Given the description of an element on the screen output the (x, y) to click on. 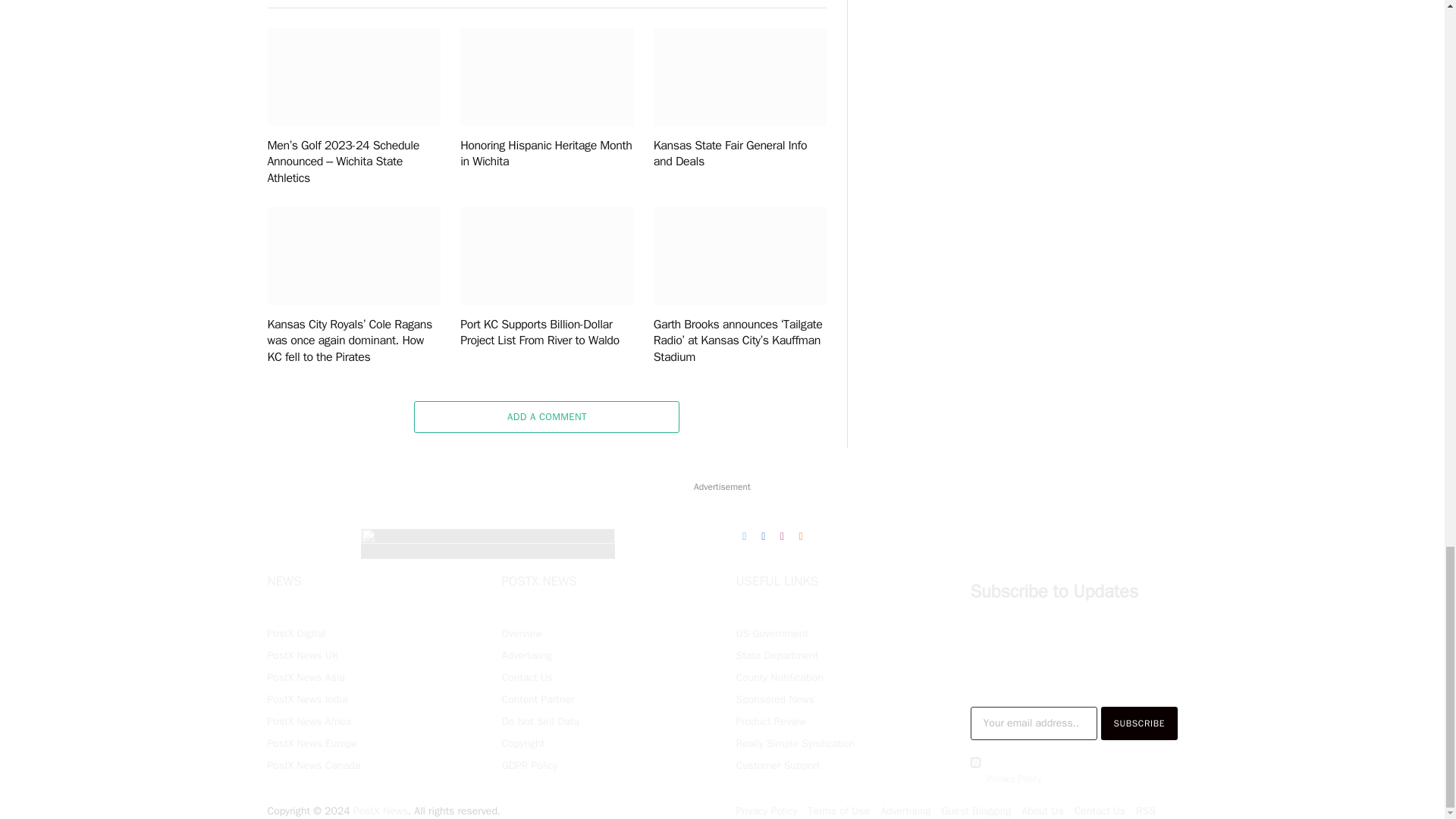
on (975, 762)
Subscribe (1138, 723)
